Given the description of an element on the screen output the (x, y) to click on. 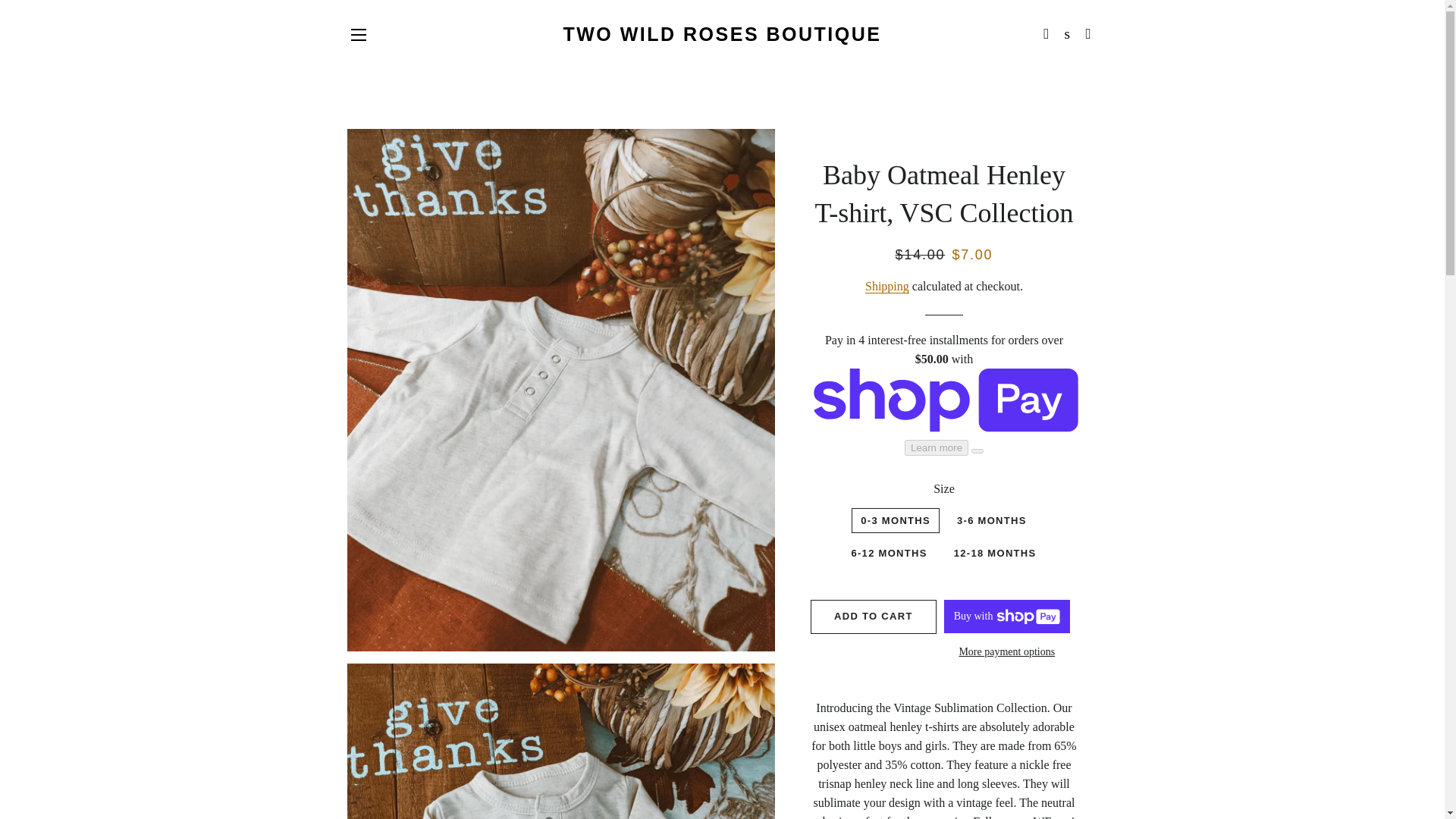
TWO WILD ROSES BOUTIQUE (721, 34)
SITE NAVIGATION (358, 34)
